Given the description of an element on the screen output the (x, y) to click on. 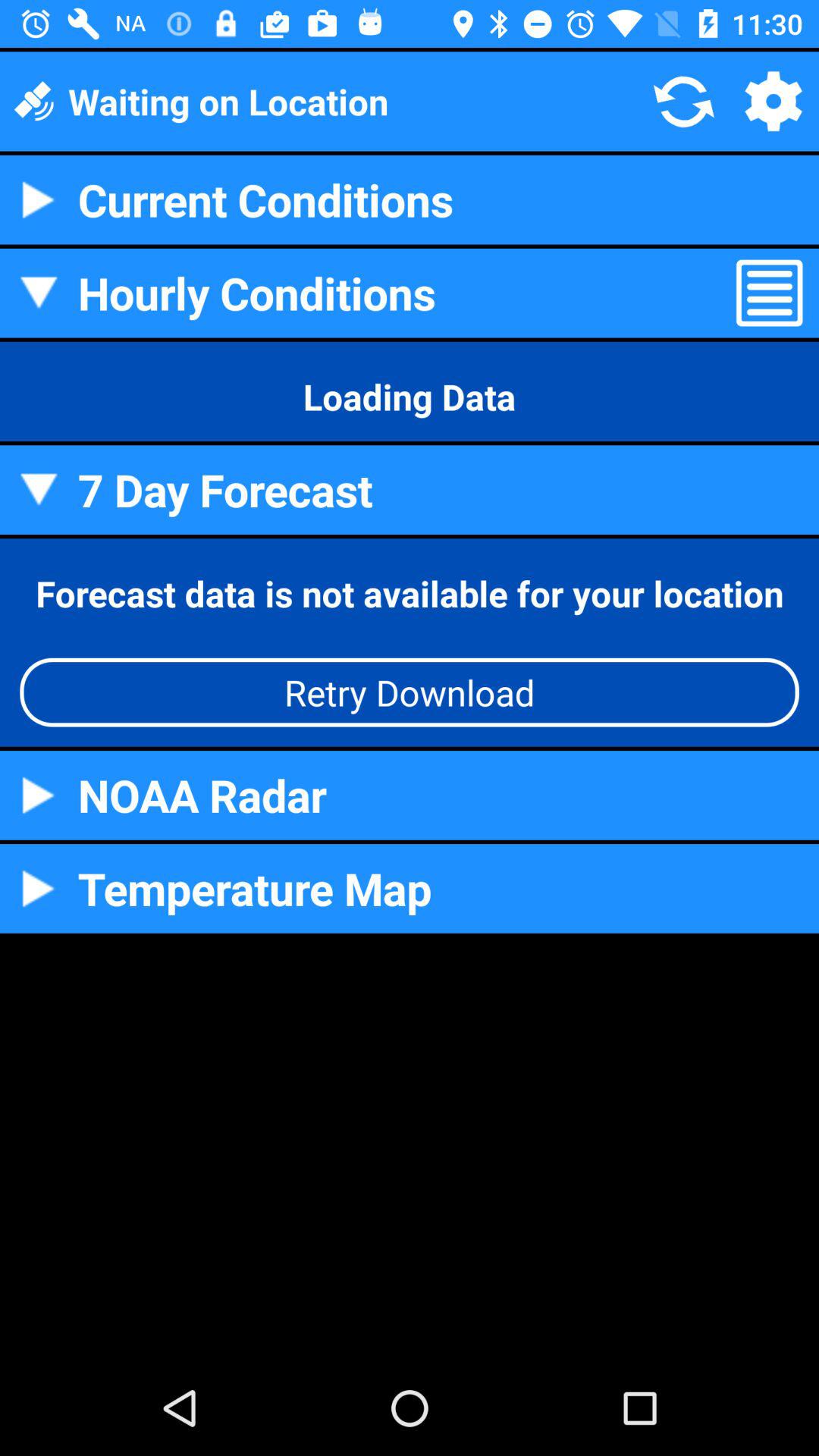
open the icon below the forecast data is app (409, 692)
